Given the description of an element on the screen output the (x, y) to click on. 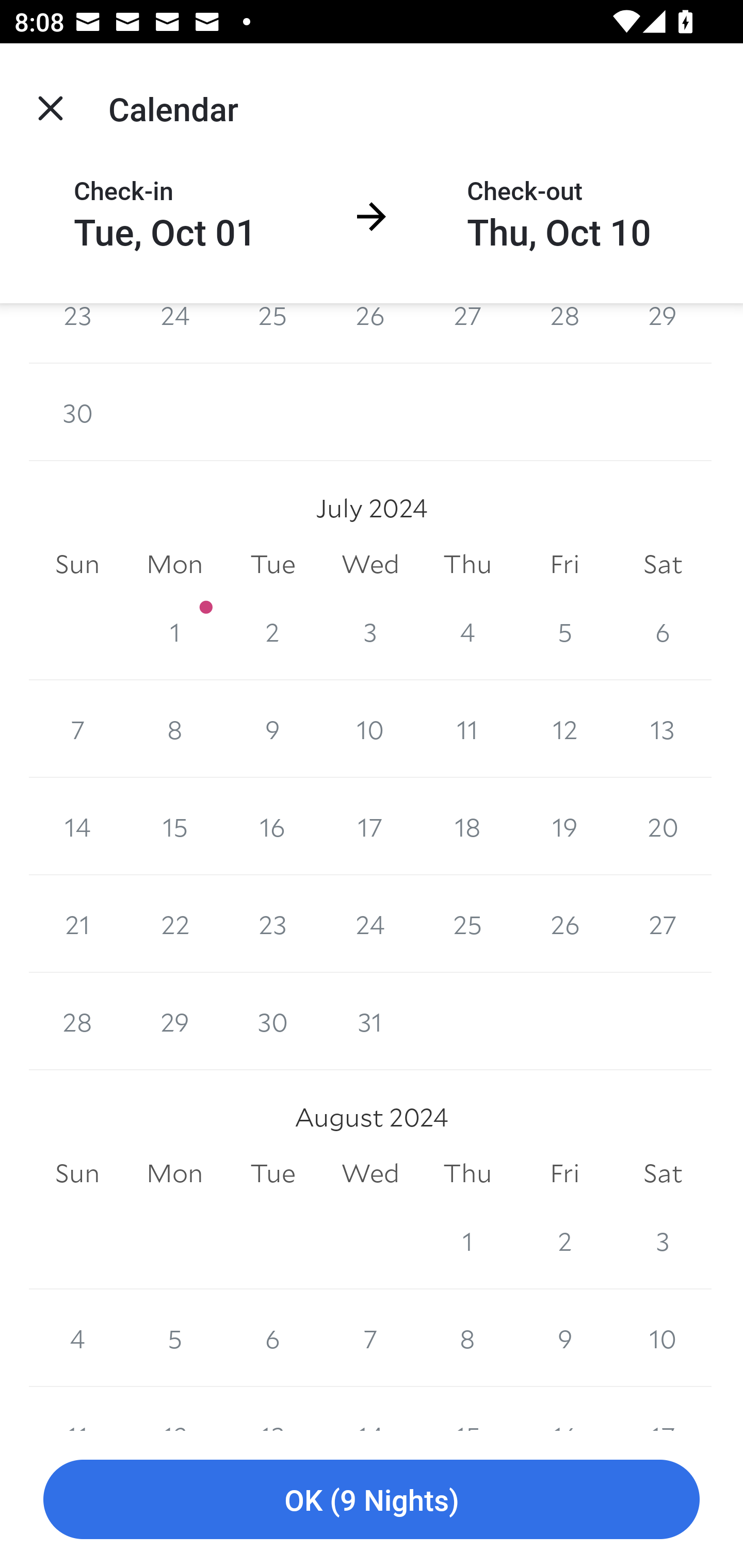
23 23 June 2024 (77, 332)
24 24 June 2024 (174, 332)
25 25 June 2024 (272, 332)
26 26 June 2024 (370, 332)
27 27 June 2024 (467, 332)
28 28 June 2024 (564, 332)
29 29 June 2024 (662, 332)
30 30 June 2024 (77, 411)
Sun (77, 564)
Mon (174, 564)
Tue (272, 564)
Wed (370, 564)
Thu (467, 564)
Fri (564, 564)
Sat (662, 564)
1 1 July 2024 (174, 631)
2 2 July 2024 (272, 631)
3 3 July 2024 (370, 631)
4 4 July 2024 (467, 631)
5 5 July 2024 (564, 631)
6 6 July 2024 (662, 631)
7 7 July 2024 (77, 728)
8 8 July 2024 (174, 728)
9 9 July 2024 (272, 728)
10 10 July 2024 (370, 728)
11 11 July 2024 (467, 728)
12 12 July 2024 (564, 728)
13 13 July 2024 (662, 728)
14 14 July 2024 (77, 825)
15 15 July 2024 (174, 825)
16 16 July 2024 (272, 825)
17 17 July 2024 (370, 825)
18 18 July 2024 (467, 825)
19 19 July 2024 (564, 825)
20 20 July 2024 (662, 825)
21 21 July 2024 (77, 923)
22 22 July 2024 (174, 923)
23 23 July 2024 (272, 923)
24 24 July 2024 (370, 923)
25 25 July 2024 (467, 923)
26 26 July 2024 (564, 923)
27 27 July 2024 (662, 923)
28 28 July 2024 (77, 1021)
29 29 July 2024 (174, 1021)
30 30 July 2024 (272, 1021)
31 31 July 2024 (370, 1021)
Sun (77, 1173)
Mon (174, 1173)
Tue (272, 1173)
Wed (370, 1173)
Thu (467, 1173)
Fri (564, 1173)
Sat (662, 1173)
1 1 August 2024 (467, 1239)
2 2 August 2024 (564, 1239)
3 3 August 2024 (662, 1239)
4 4 August 2024 (77, 1337)
5 5 August 2024 (174, 1337)
6 6 August 2024 (272, 1337)
7 7 August 2024 (370, 1337)
8 8 August 2024 (467, 1337)
9 9 August 2024 (564, 1337)
10 10 August 2024 (662, 1337)
OK (9 Nights) (371, 1499)
